Given the description of an element on the screen output the (x, y) to click on. 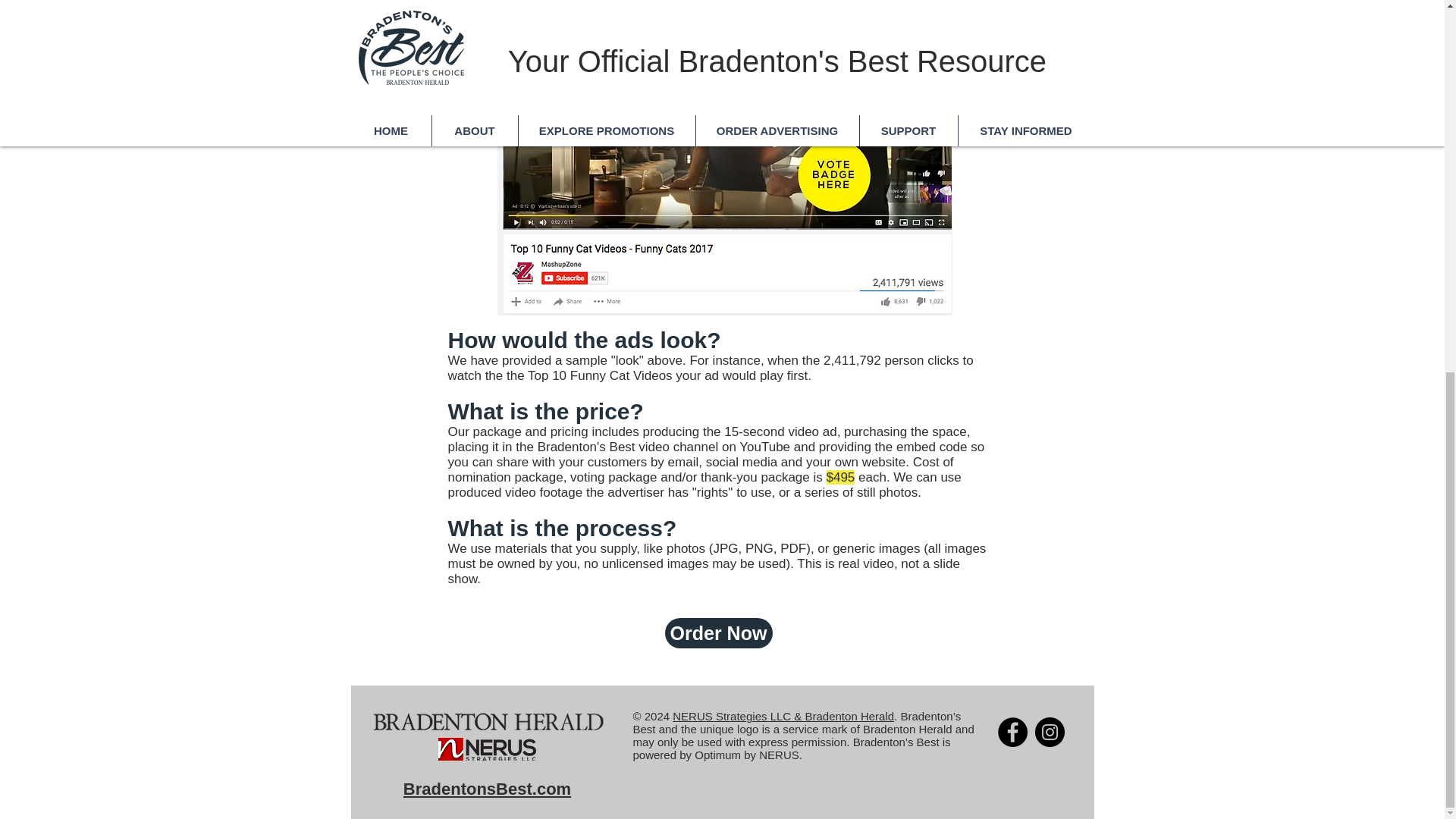
Order Now (717, 633)
logo180.png (486, 721)
BradentonsBest.com (486, 788)
